Given the description of an element on the screen output the (x, y) to click on. 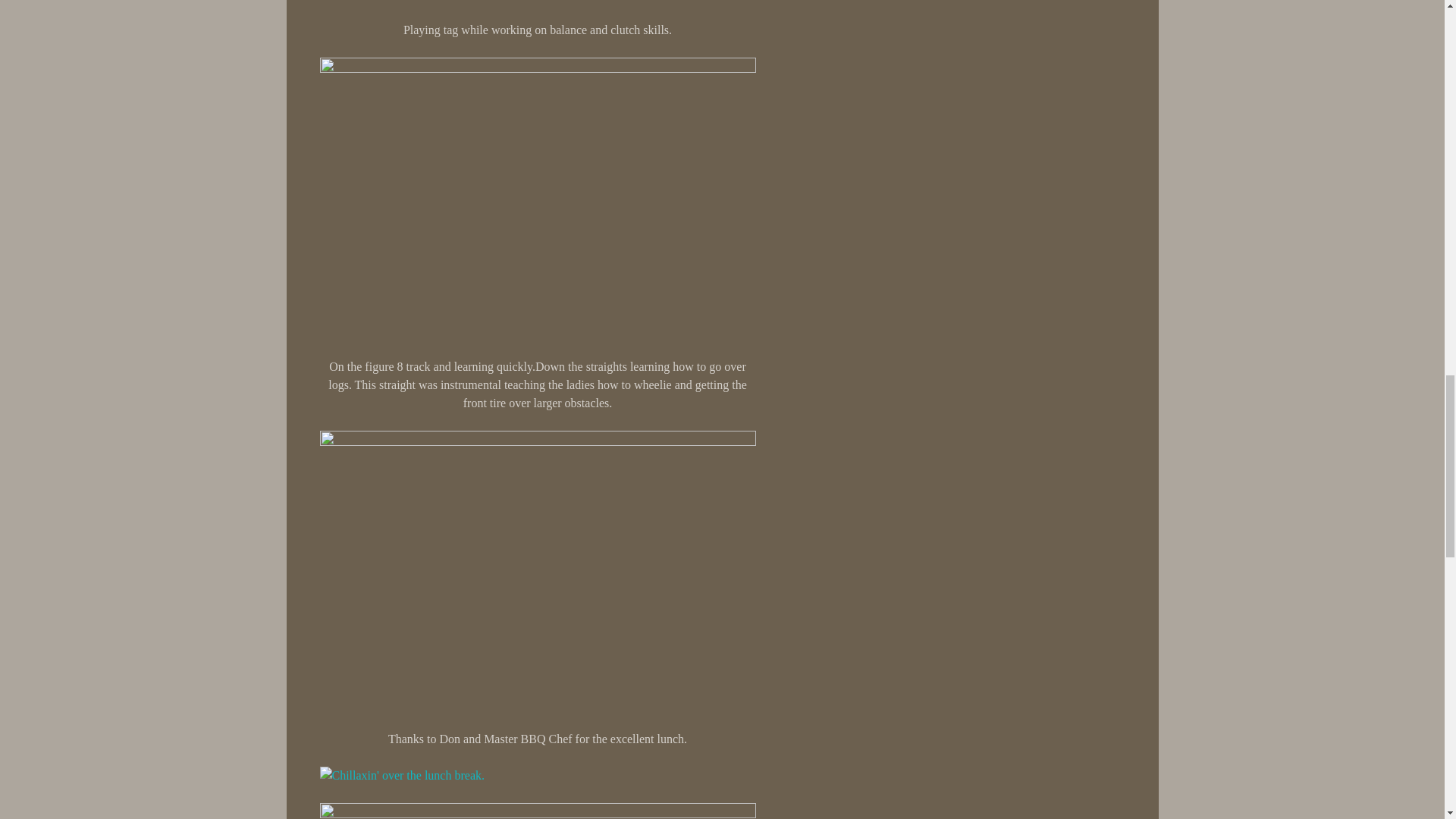
Blog Ladies Clinic-18 (537, 202)
Blog Ladies Clinic-5 (537, 5)
Blog Ladies Clinic-19 (537, 811)
Blog Ladies Clinic-20 (402, 775)
Blog Ladies Clinic-23 (537, 575)
